Given the description of an element on the screen output the (x, y) to click on. 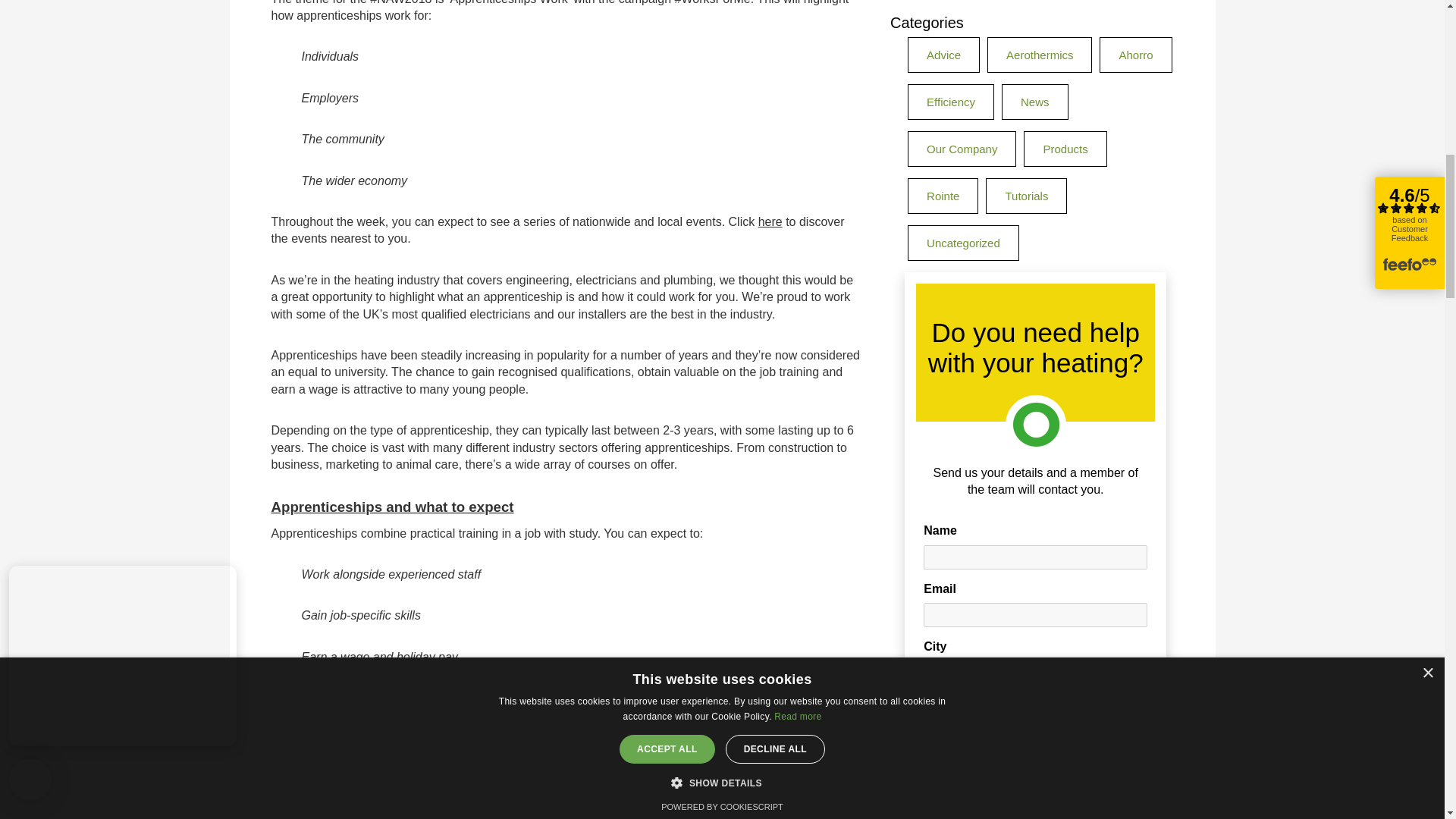
Sales enquiry (933, 128)
SEND (1035, 437)
Technical Support (933, 159)
